Given the description of an element on the screen output the (x, y) to click on. 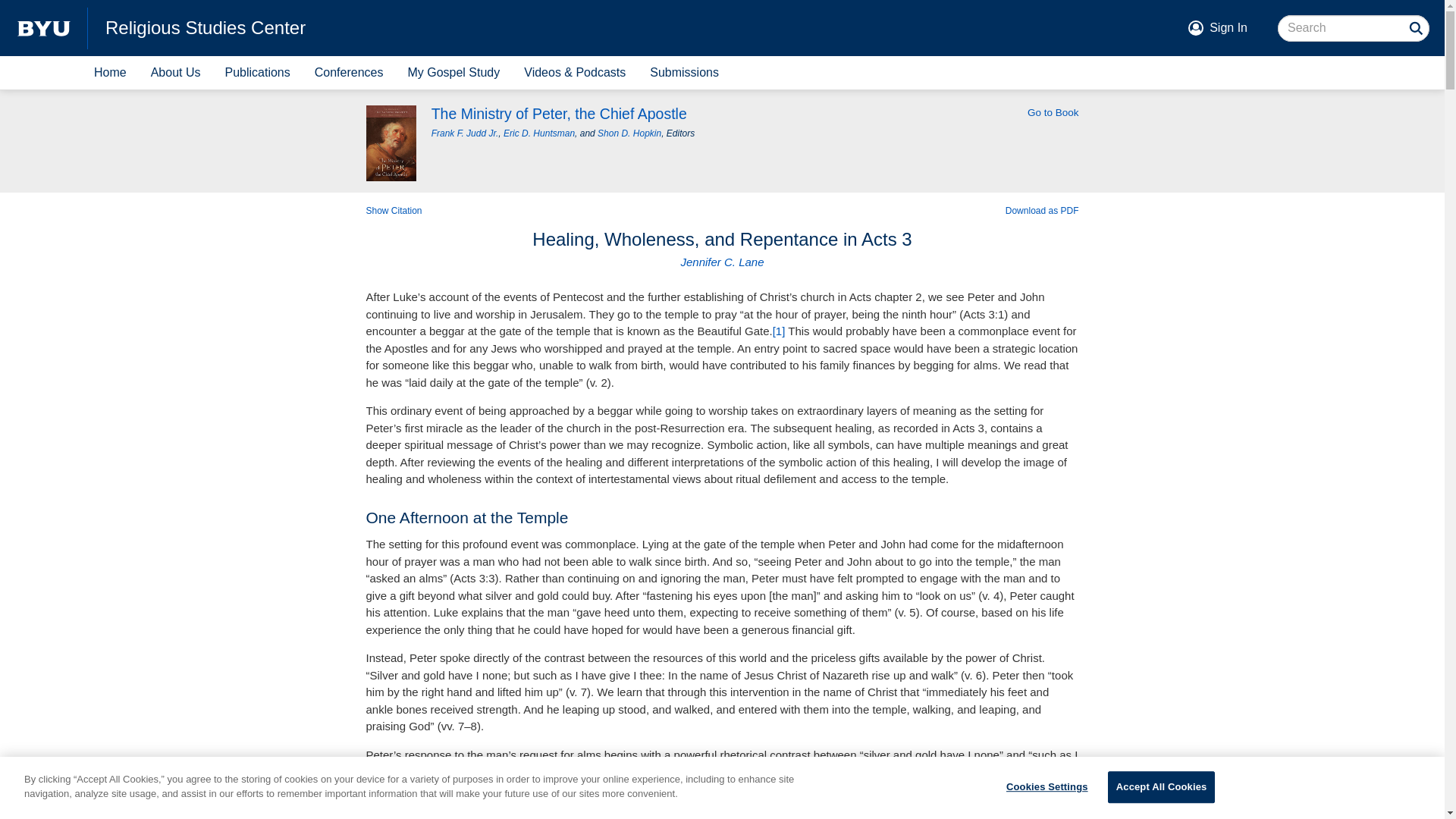
Go to Book (1052, 112)
Jennifer C. Lane (720, 261)
Sign In (1228, 27)
Conferences (349, 72)
The Ministry of Peter, the Chief Apostle (562, 113)
Submissions (684, 72)
Eric D. Huntsman (539, 132)
Download as PDF (1042, 210)
Frank F. Judd Jr. (464, 132)
Enter the terms you wish to search for. (1353, 28)
Show Citation (393, 210)
About Us (175, 72)
My Gospel Study (452, 72)
Publications (256, 72)
